Given the description of an element on the screen output the (x, y) to click on. 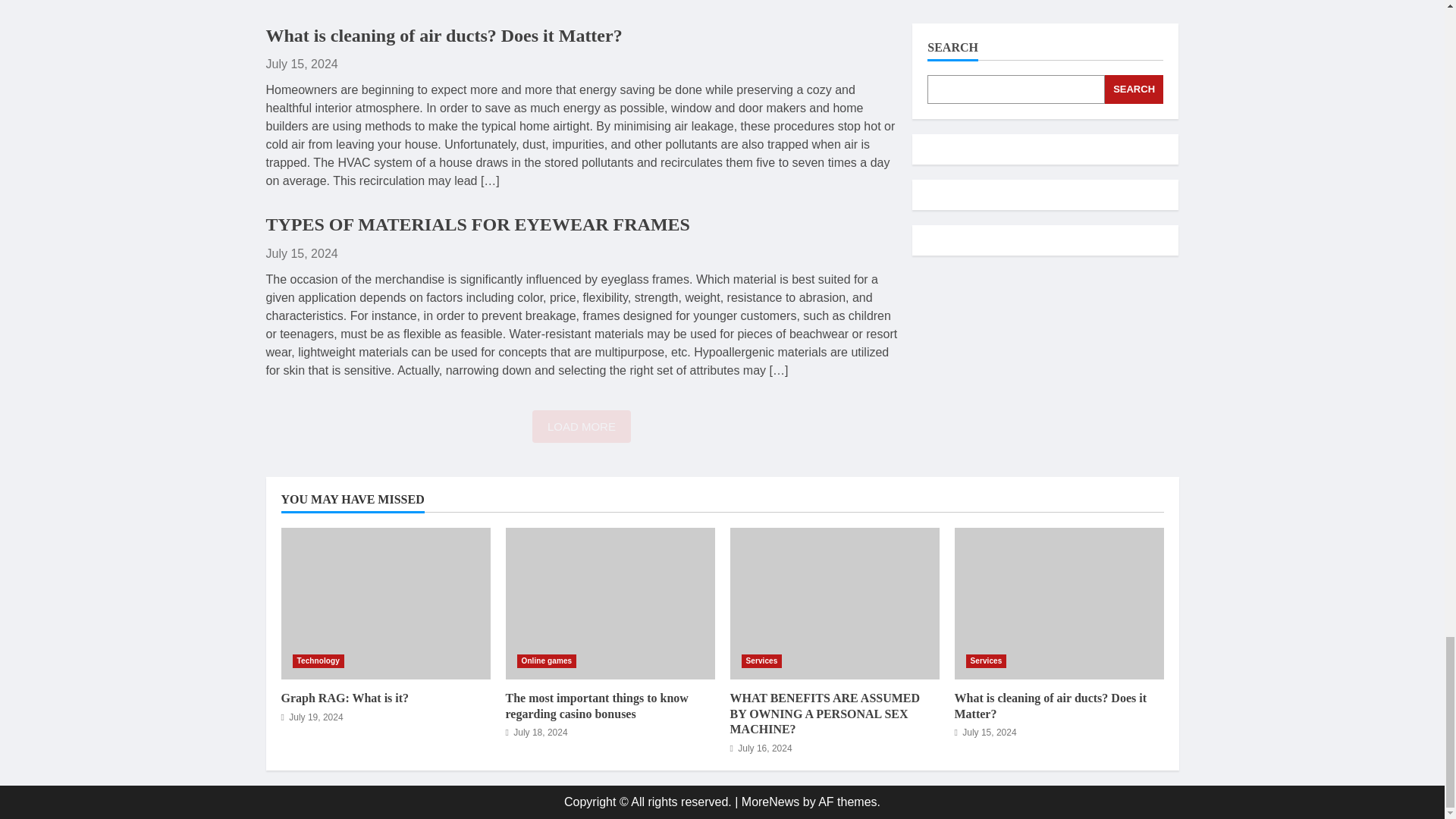
Graph RAG: What is it? (385, 603)
What is cleaning of air ducts? Does it Matter? (442, 35)
TYPES OF MATERIALS FOR EYEWEAR FRAMES (476, 224)
WHAT BENEFITS ARE ASSUMED BY OWNING A PERSONAL SEX MACHINE? (834, 603)
Technology (317, 661)
The most important things to know regarding casino bonuses (609, 603)
The most important things to know regarding casino bonuses (596, 705)
LOAD MORE (581, 426)
Graph RAG: What is it? (345, 697)
Online games (546, 661)
